Given the description of an element on the screen output the (x, y) to click on. 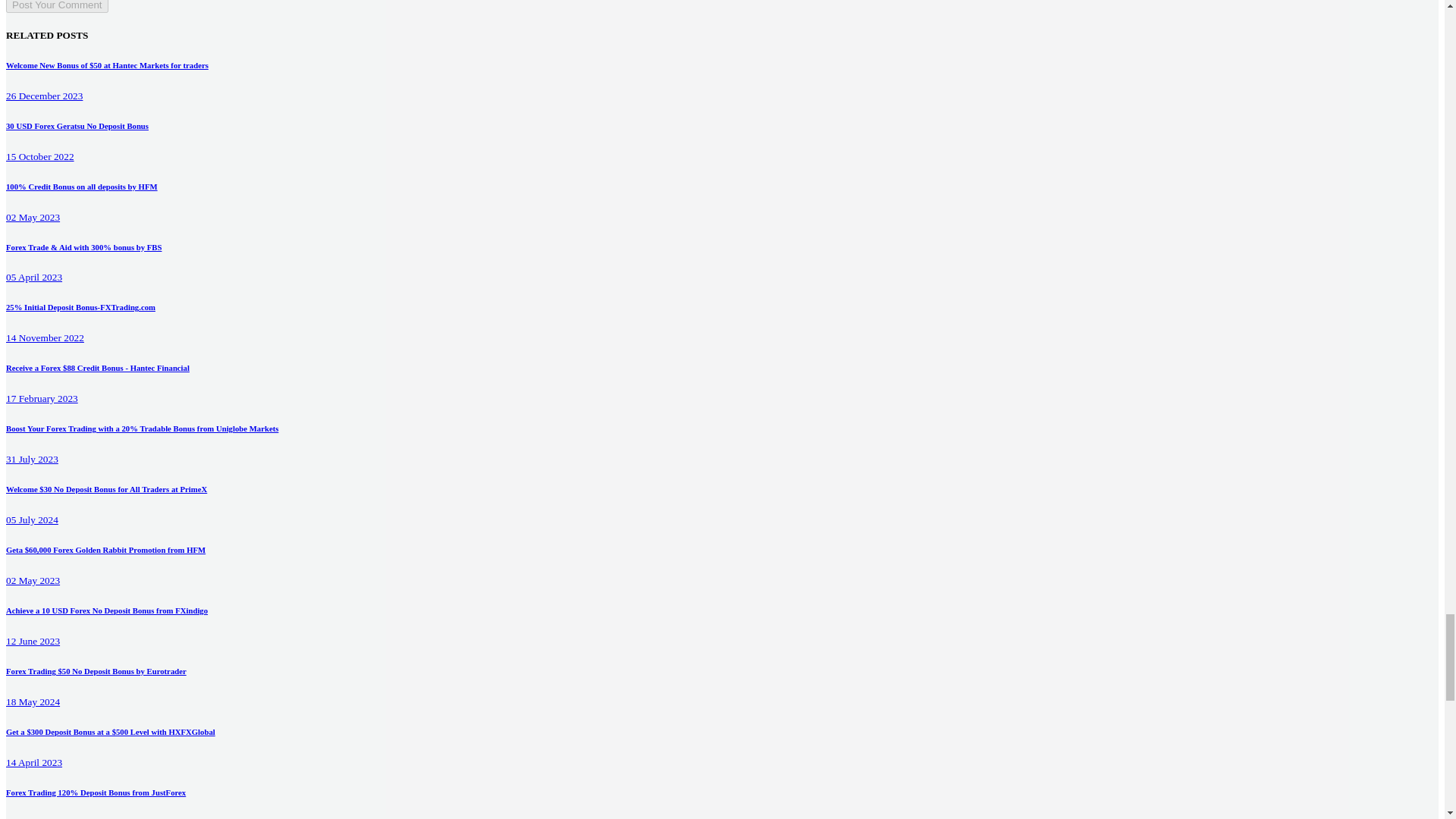
Post Your Comment (56, 6)
